Given the description of an element on the screen output the (x, y) to click on. 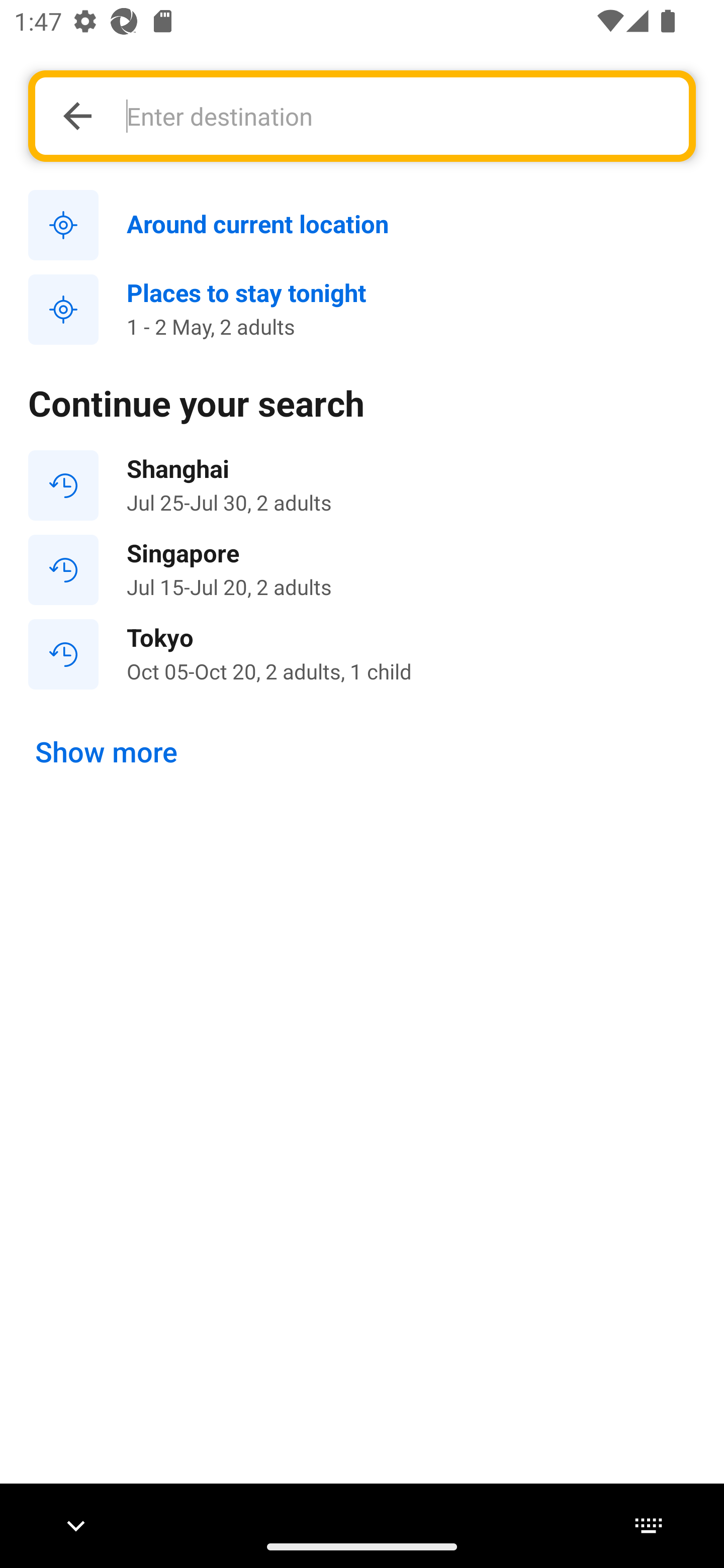
Enter destination (396, 115)
Around current location (362, 225)
Places to stay tonight 1 - 2 May, 2 adults (362, 309)
Shanghai Jul 25-Jul 30, 2 adults  (362, 485)
Singapore Jul 15-Jul 20, 2 adults  (362, 569)
Tokyo Oct 05-Oct 20, 2 adults, 1 child (362, 653)
Show more (106, 752)
